Given the description of an element on the screen output the (x, y) to click on. 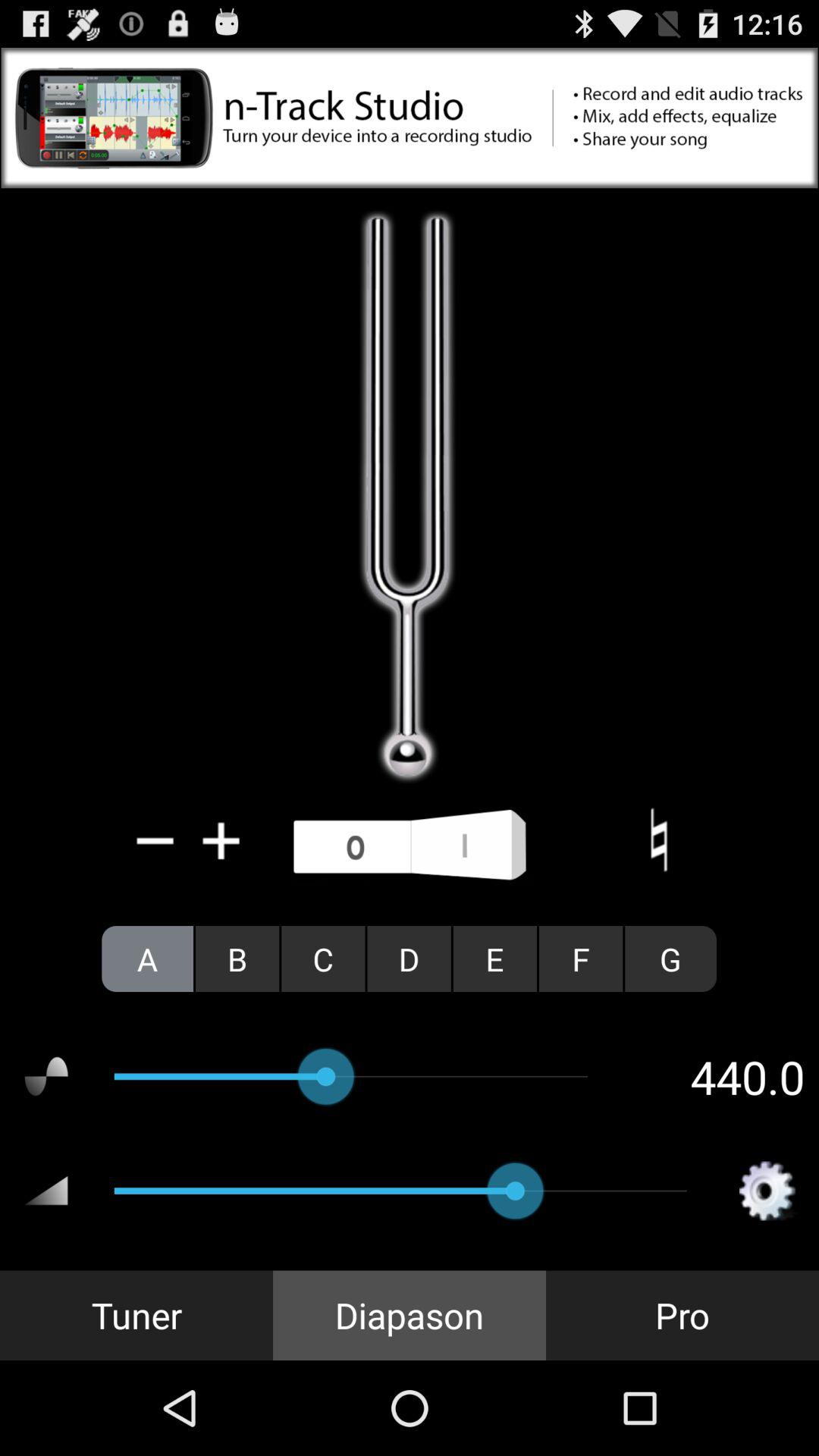
choose item next to b (323, 958)
